Given the description of an element on the screen output the (x, y) to click on. 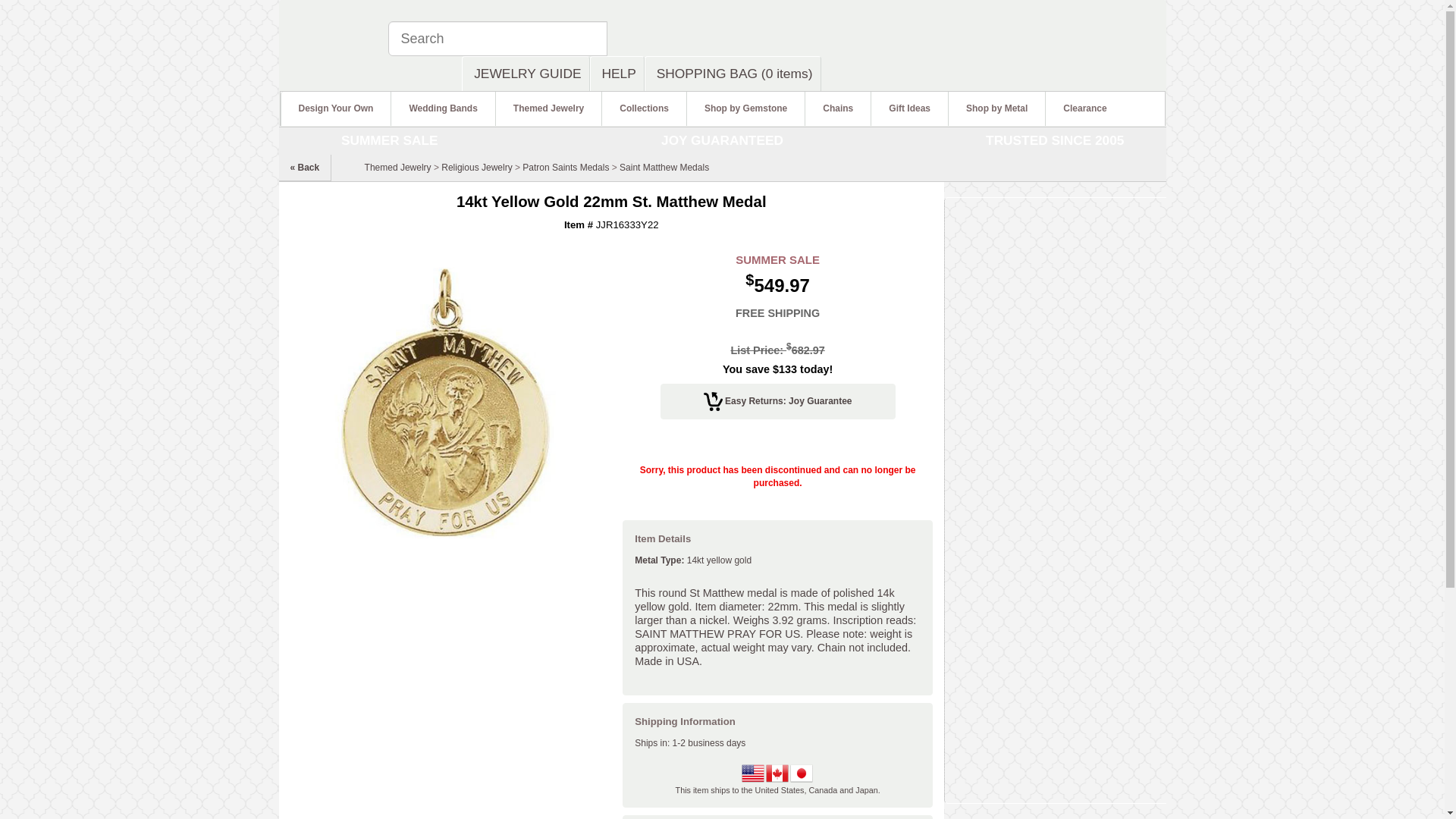
View TrustedSite Certification (1120, 30)
JEWELRY GUIDE (525, 73)
SEARCH (650, 38)
HELP (617, 73)
Design Your Own (336, 108)
